Given the description of an element on the screen output the (x, y) to click on. 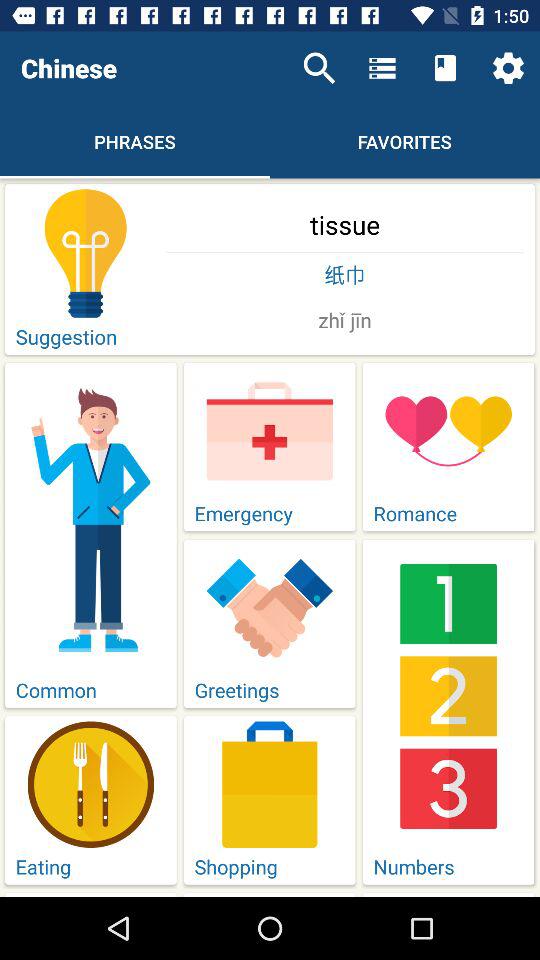
launch the item to the right of the chinese item (319, 67)
